Given the description of an element on the screen output the (x, y) to click on. 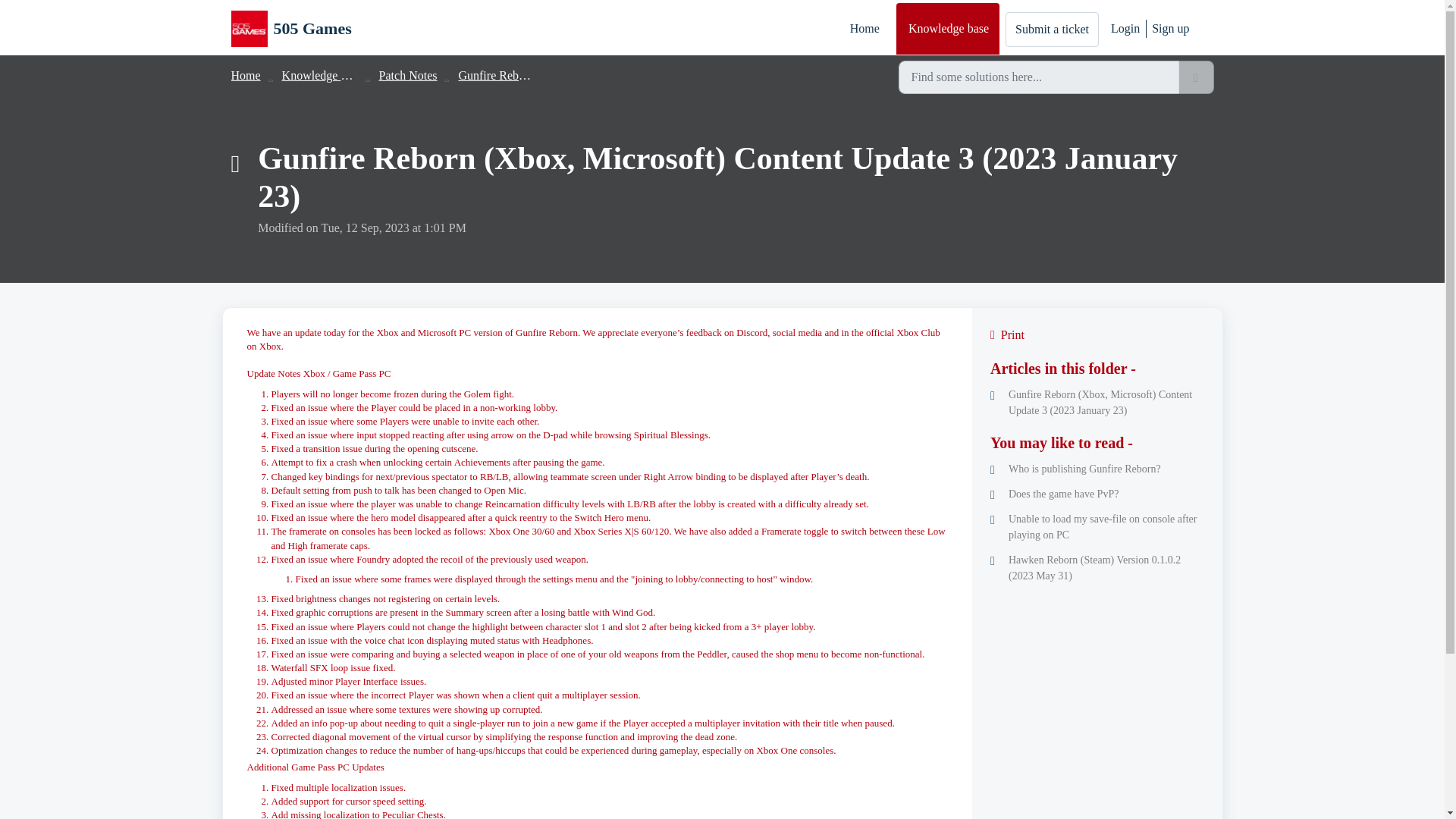
Home (245, 74)
Who is publishing Gunfire Reborn? (1097, 468)
Home (863, 28)
505 Games (311, 28)
Knowledge base (322, 74)
Gunfire Reborn (496, 74)
505 Games (290, 28)
Unable to load my save-file on console after playing on PC (1097, 526)
Knowledge base (947, 28)
Does the game have PvP? (1097, 494)
Submit a ticket (1052, 29)
Patch Notes (408, 74)
Print (1097, 334)
